Given the description of an element on the screen output the (x, y) to click on. 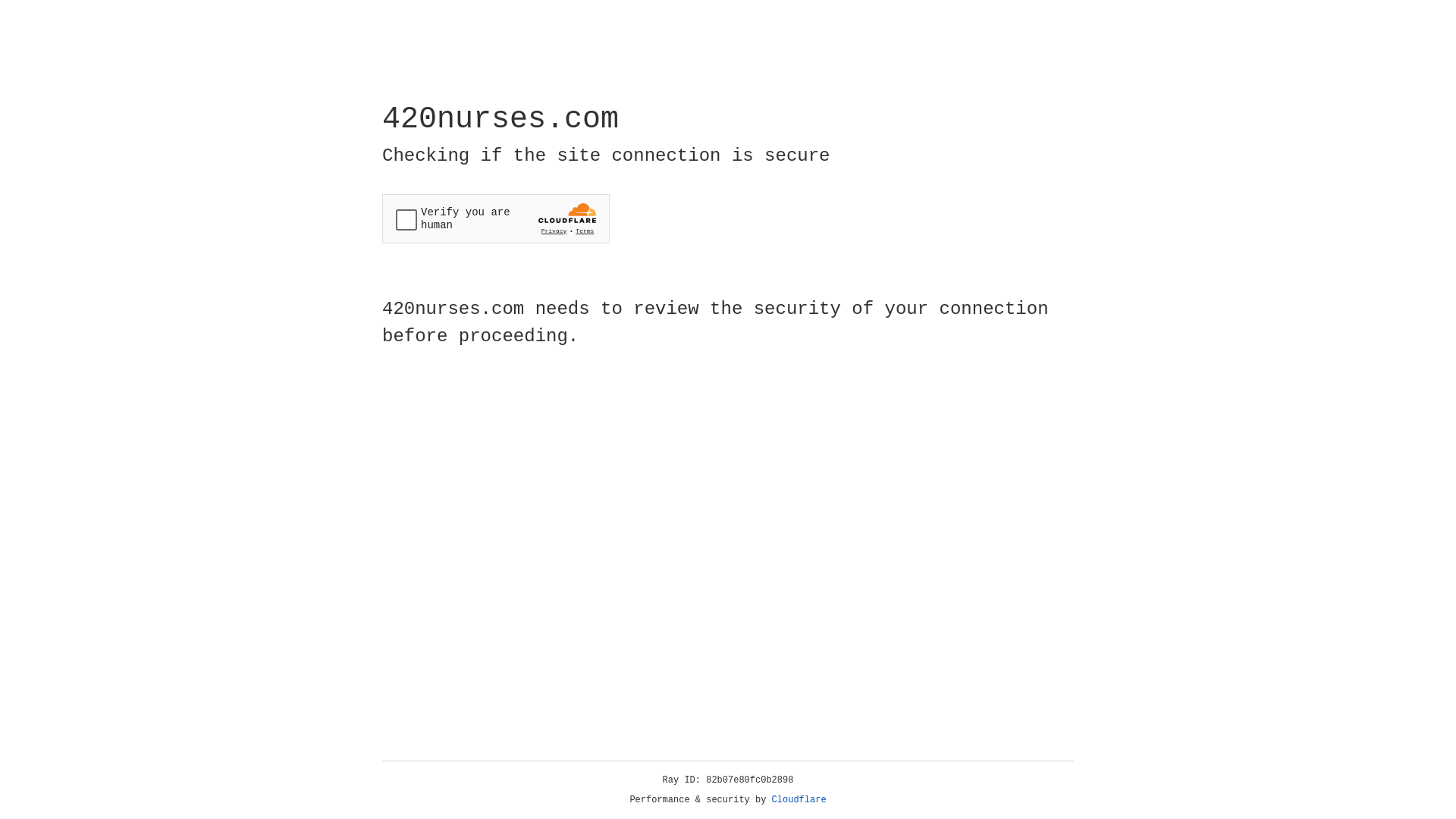
Cloudflare Element type: text (798, 799)
Widget containing a Cloudflare security challenge Element type: hover (495, 218)
